Given the description of an element on the screen output the (x, y) to click on. 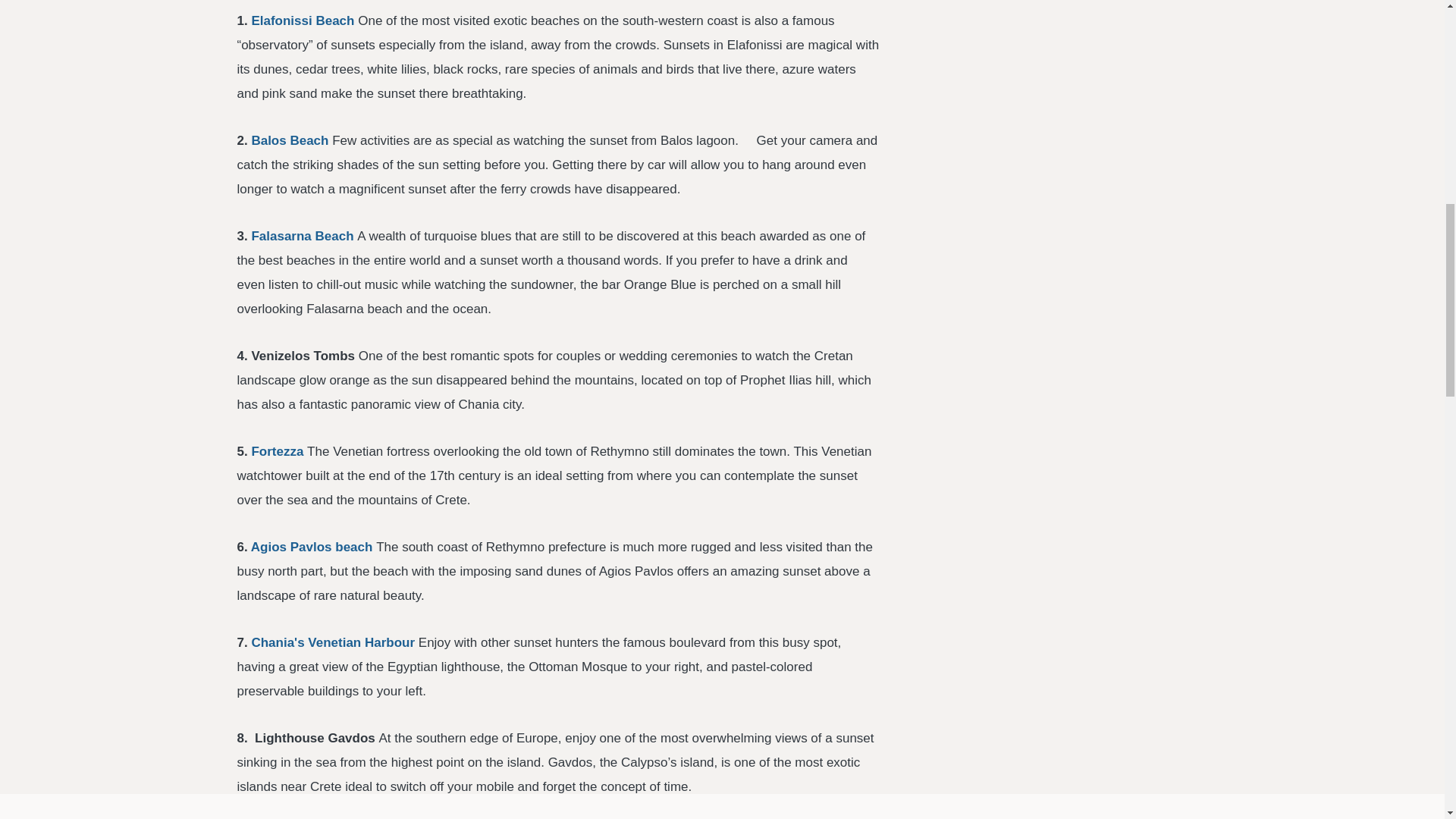
Agios Pavlos beach (312, 546)
Balos Beach (289, 140)
Fortezza (276, 451)
Elafonissi Beach (301, 20)
Falasarna Beach (301, 236)
